Given the description of an element on the screen output the (x, y) to click on. 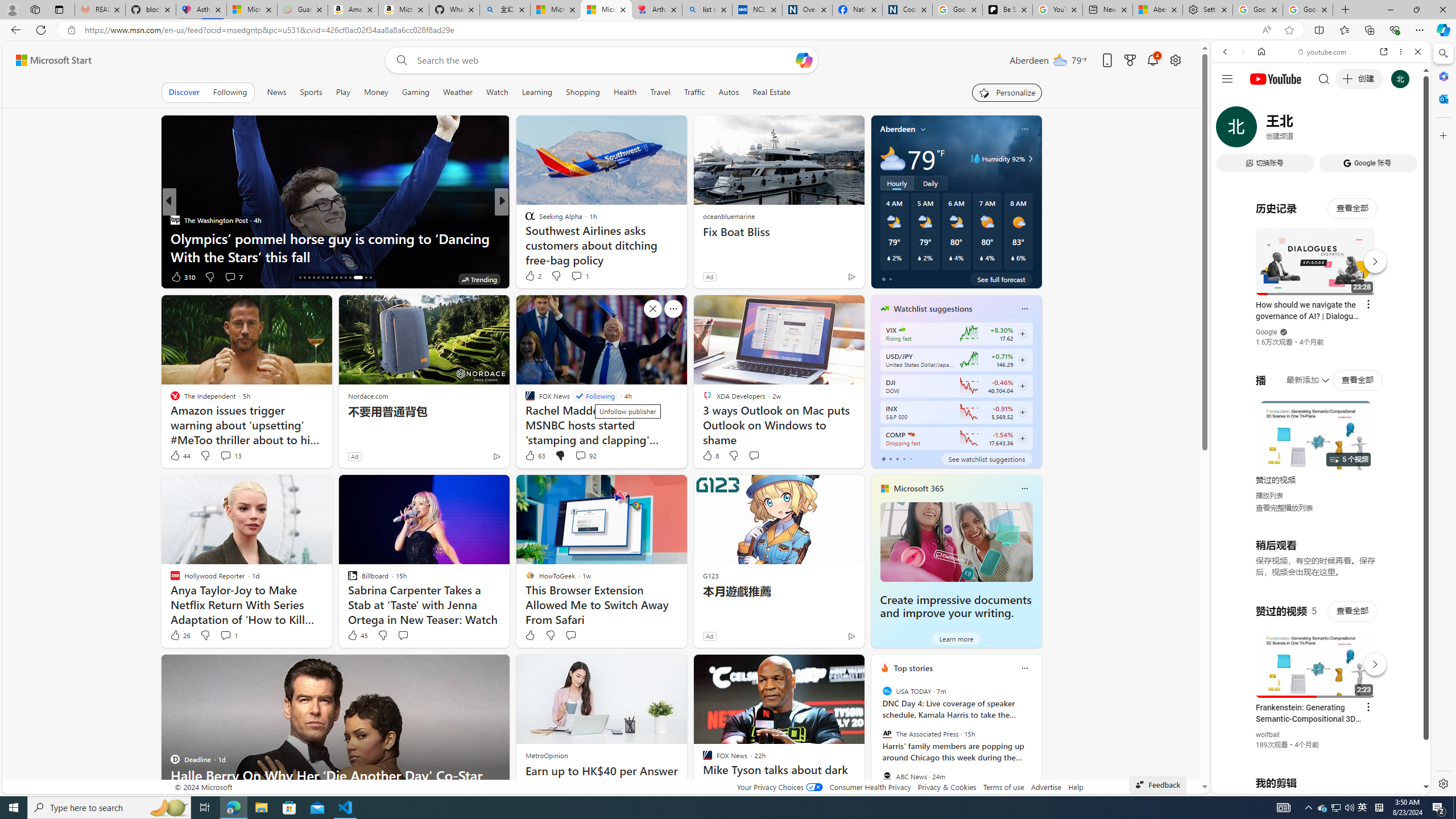
Sports (310, 92)
CBOE Market Volatility Index (901, 329)
Personalize your feed" (1007, 92)
Arthritis: Ask Health Professionals (656, 9)
Aberdeen (897, 128)
ABC News (886, 775)
you (1315, 755)
Skip to footer (46, 59)
Shopping (583, 92)
Daily (929, 183)
Watch (497, 92)
tab-0 (882, 458)
Following (594, 395)
